Given the description of an element on the screen output the (x, y) to click on. 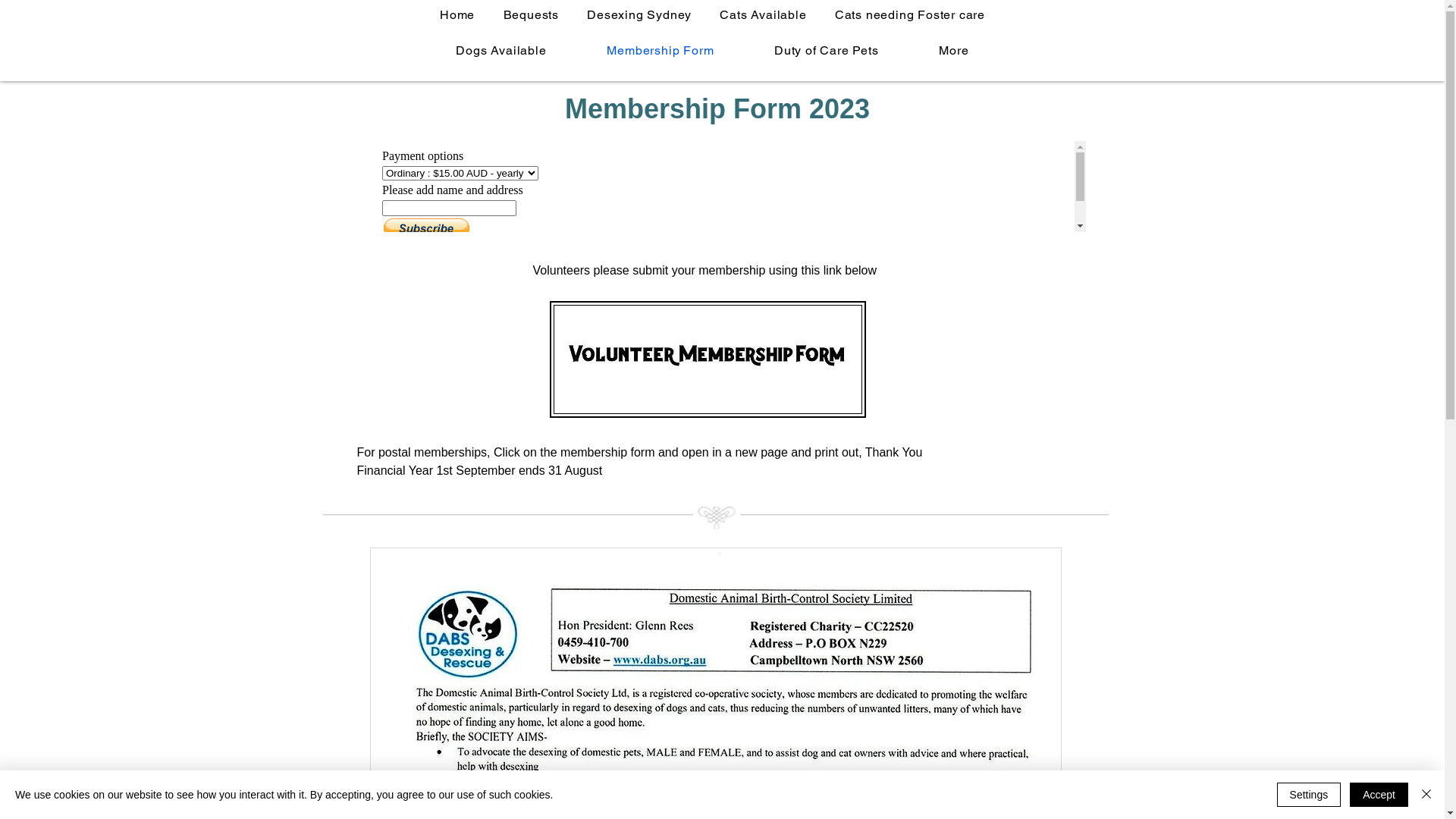
Duty of Care Pets Element type: text (825, 50)
Membership Form Element type: text (659, 50)
Settings Element type: text (1309, 794)
Home Element type: text (457, 14)
More Element type: text (954, 50)
Cats Available Element type: text (763, 14)
Embedded Content Element type: hover (729, 186)
Desexing Sydney Element type: text (639, 14)
Accept Element type: text (1378, 794)
Dogs Available Element type: text (501, 50)
Bequests Element type: text (531, 14)
Cats needing Foster care Element type: text (909, 14)
